Given the description of an element on the screen output the (x, y) to click on. 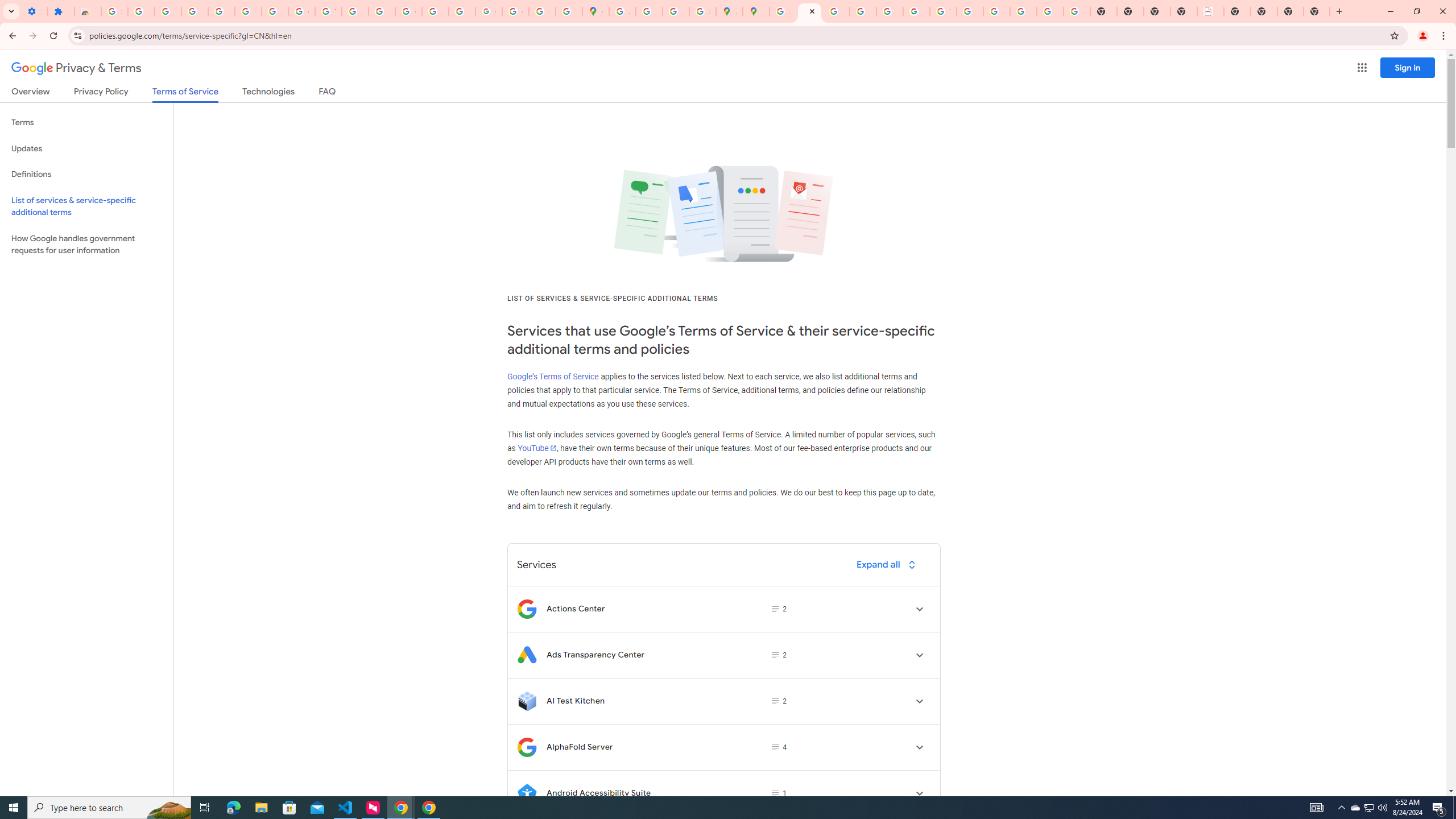
Logo for Android Accessibility Suite (526, 792)
Logo for AI Test Kitchen (526, 700)
